Given the description of an element on the screen output the (x, y) to click on. 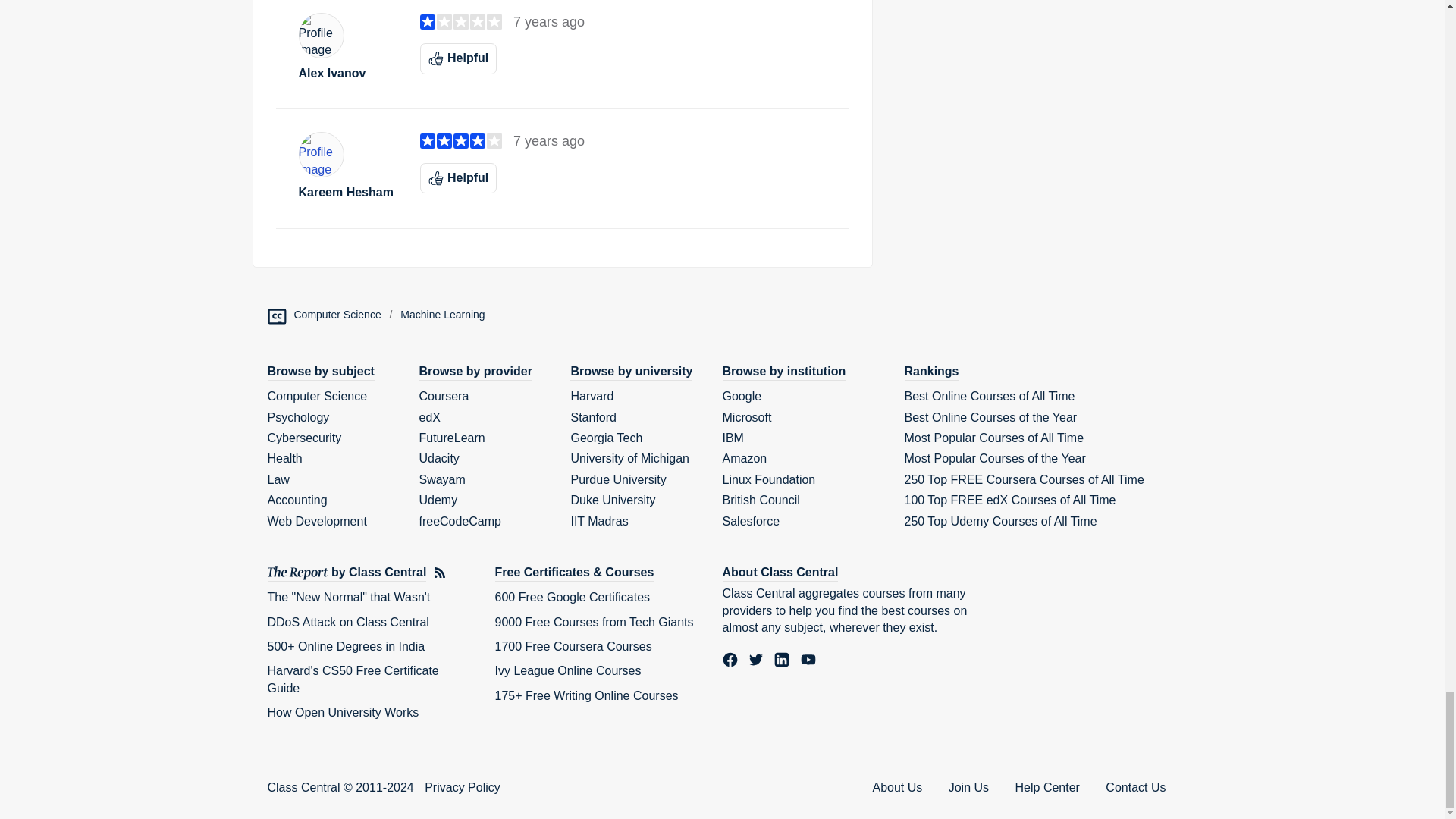
The "New Normal" that Wasn't (347, 596)
Alex Ivanov (347, 73)
Kareem Hesham (347, 192)
